Given the description of an element on the screen output the (x, y) to click on. 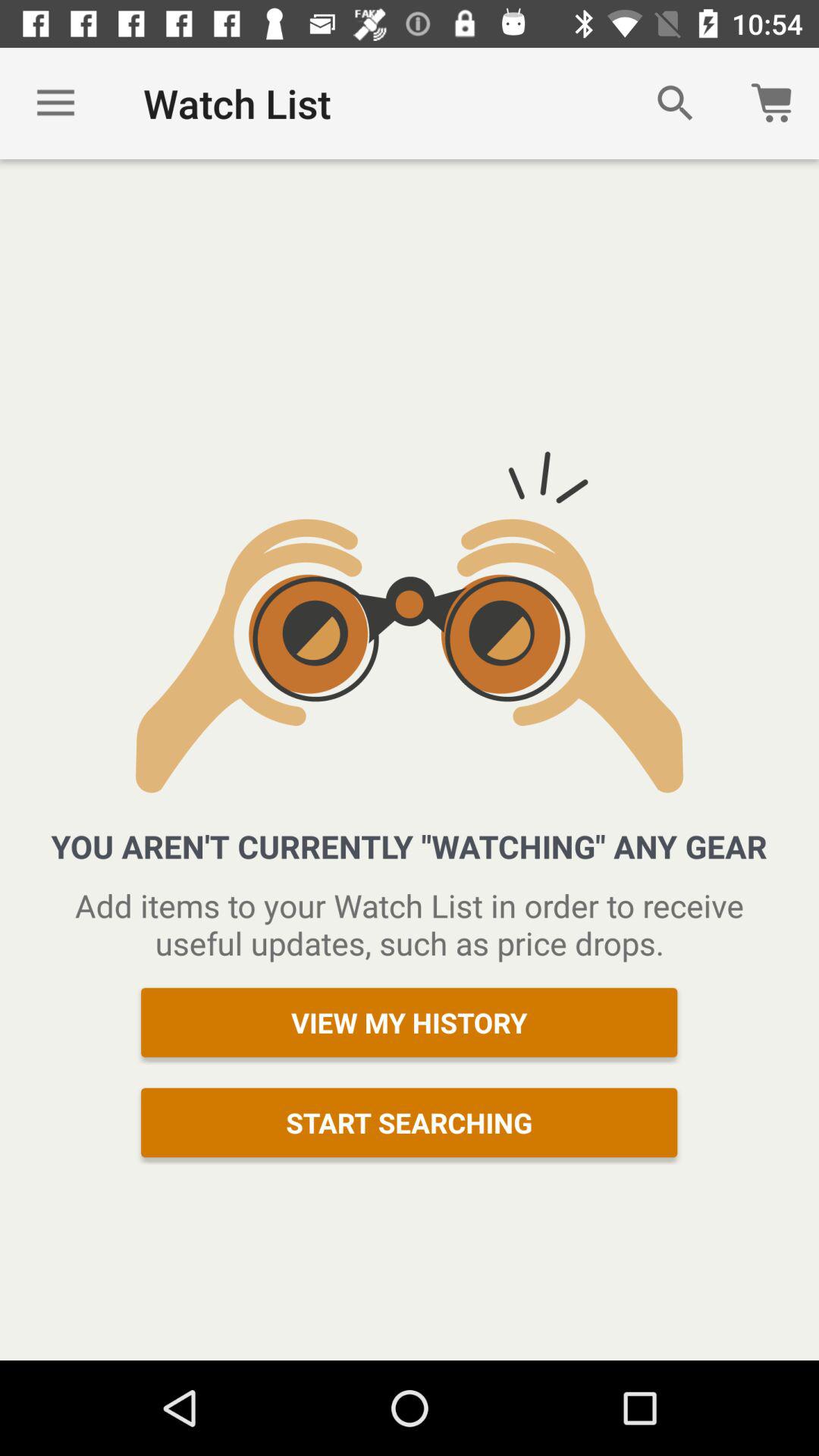
tap icon to the left of watch list (55, 103)
